Given the description of an element on the screen output the (x, y) to click on. 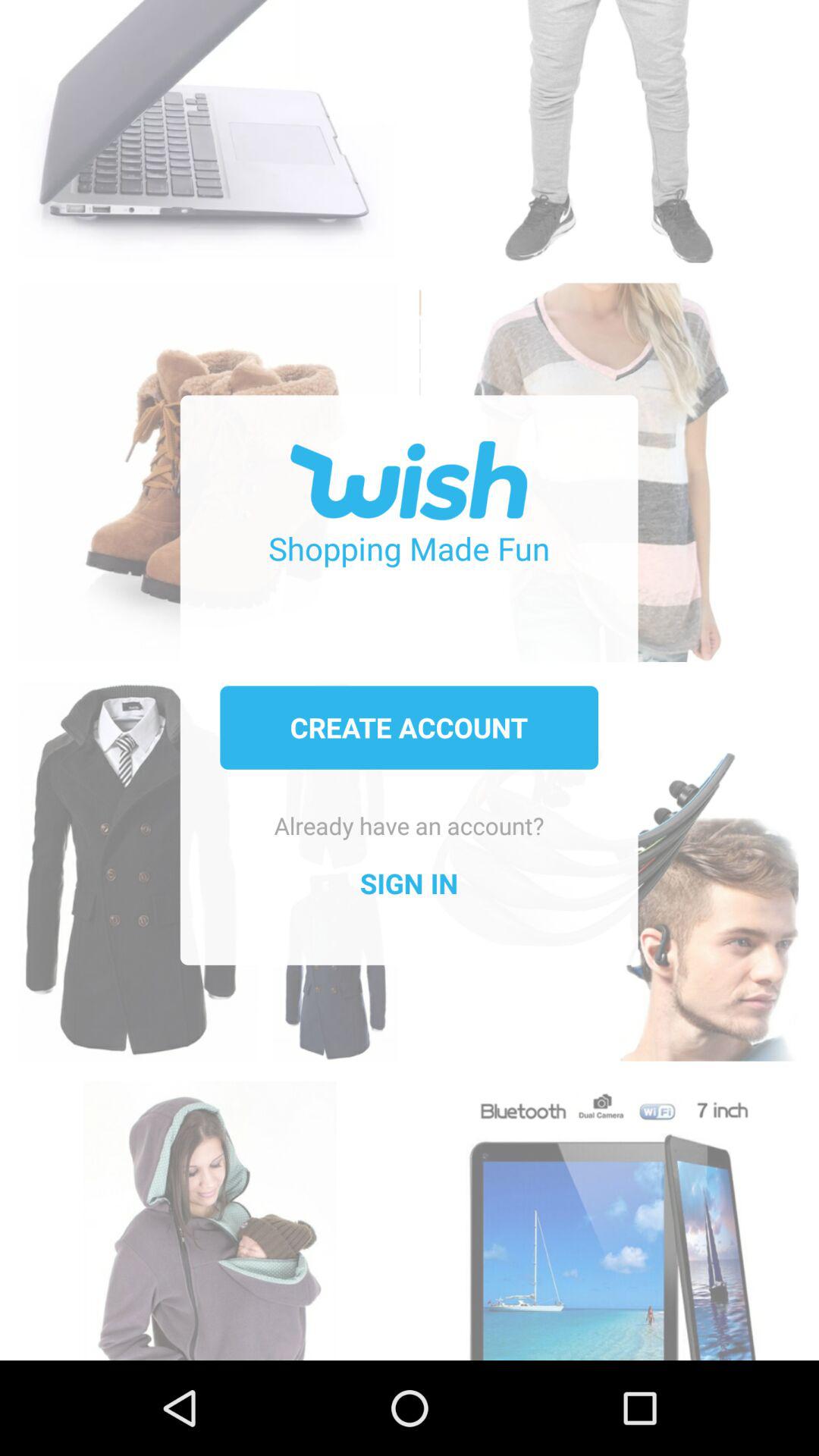
scroll to the create account (409, 727)
